Given the description of an element on the screen output the (x, y) to click on. 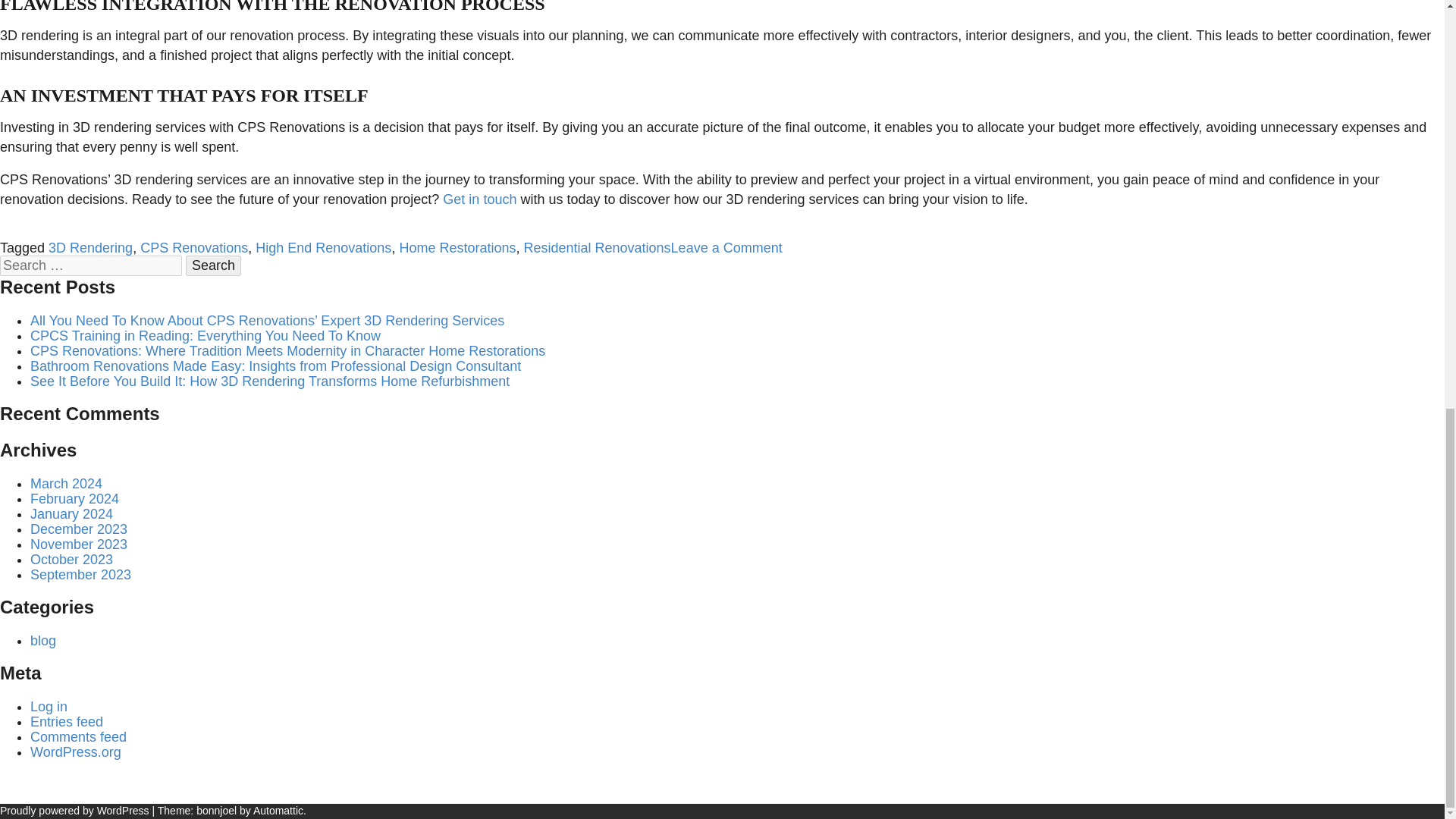
CPCS Training in Reading: Everything You Need To Know (205, 335)
CPS Renovations (193, 247)
Home Restorations (456, 247)
Get in touch (479, 199)
3D Rendering (90, 247)
Residential Renovations (595, 247)
Search (213, 265)
Search (213, 265)
High End Renovations (323, 247)
Search (213, 265)
